Given the description of an element on the screen output the (x, y) to click on. 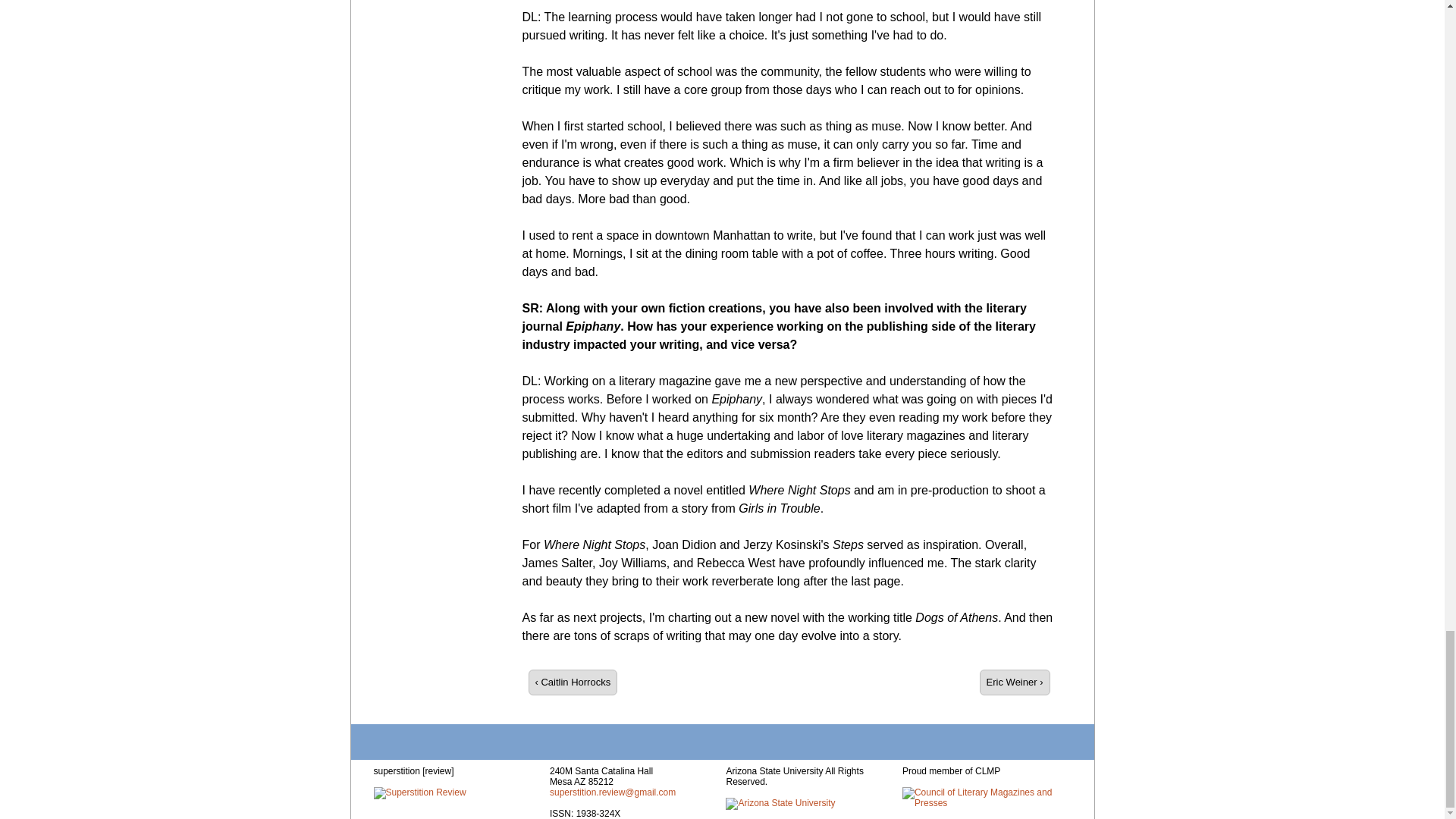
Go to previous page (572, 682)
Go to next page (1014, 682)
Arizona State University (779, 803)
Superstition Review (418, 793)
